Given the description of an element on the screen output the (x, y) to click on. 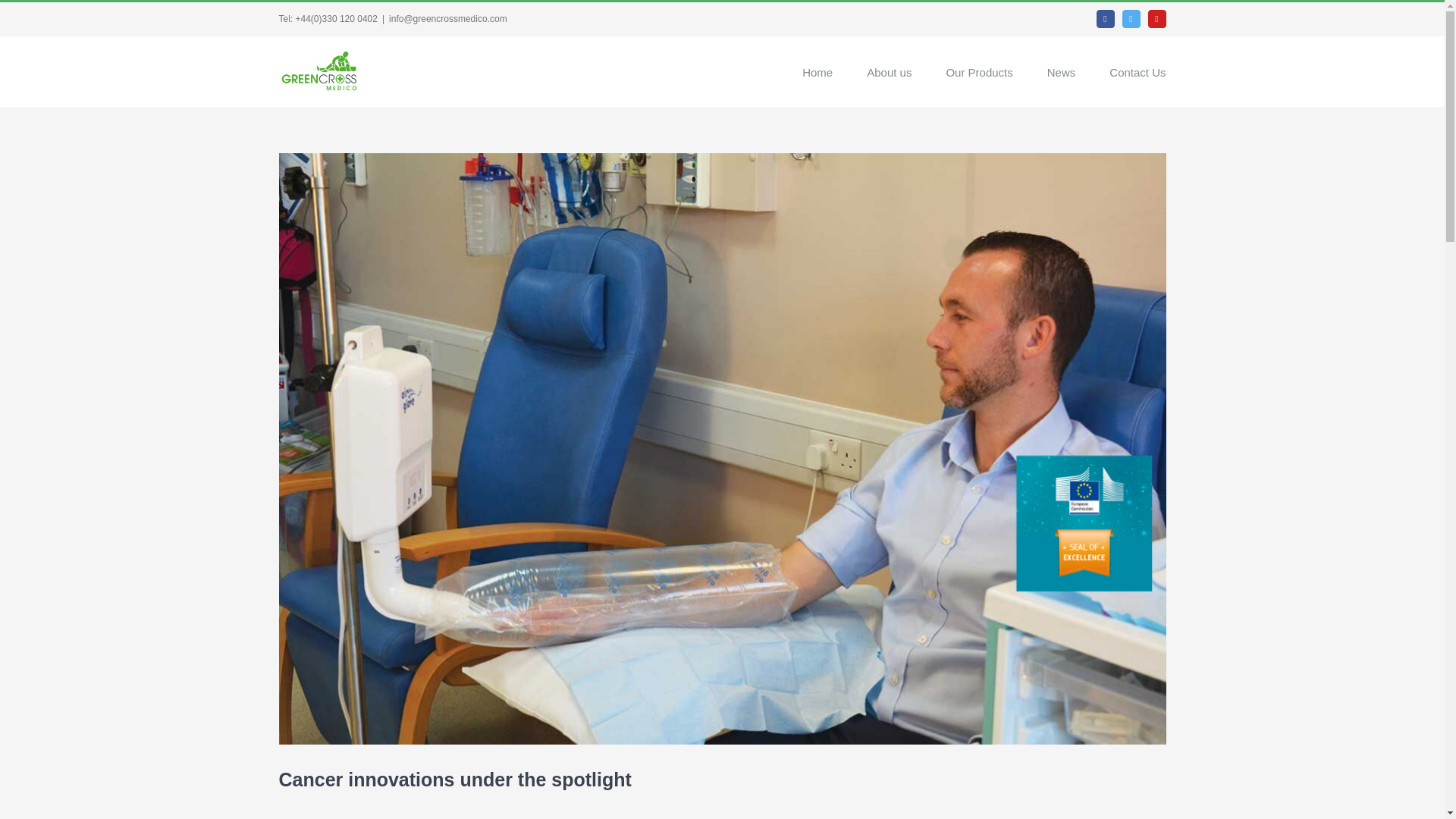
Facebook (1105, 18)
Our Products (977, 71)
YouTube (1157, 18)
Twitter (1131, 18)
Facebook (1105, 18)
Twitter (1131, 18)
YouTube (1157, 18)
